Given the description of an element on the screen output the (x, y) to click on. 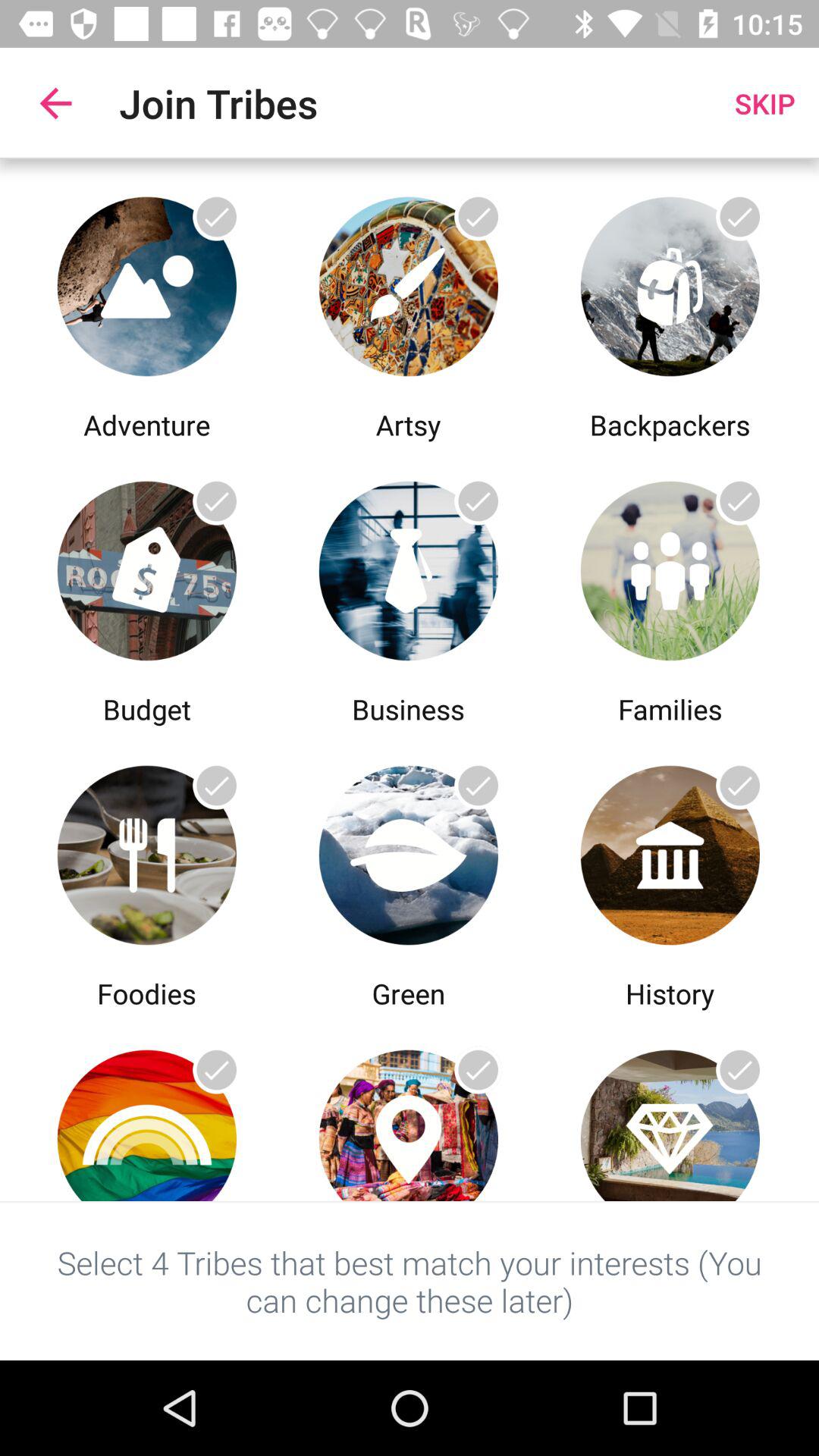
select the foodies option (146, 851)
